Given the description of an element on the screen output the (x, y) to click on. 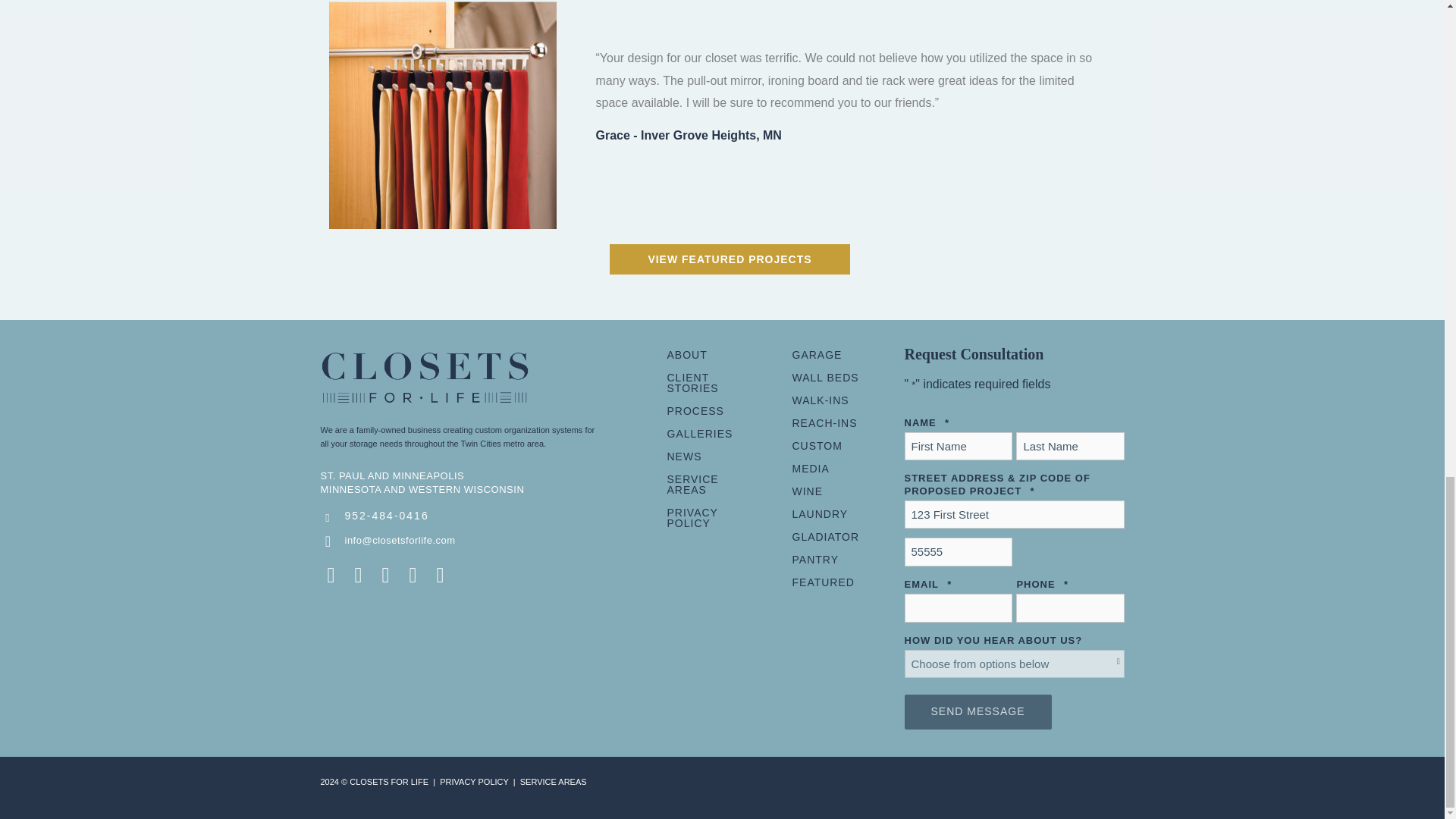
Send Message (977, 711)
Tie Rack (442, 115)
